Given the description of an element on the screen output the (x, y) to click on. 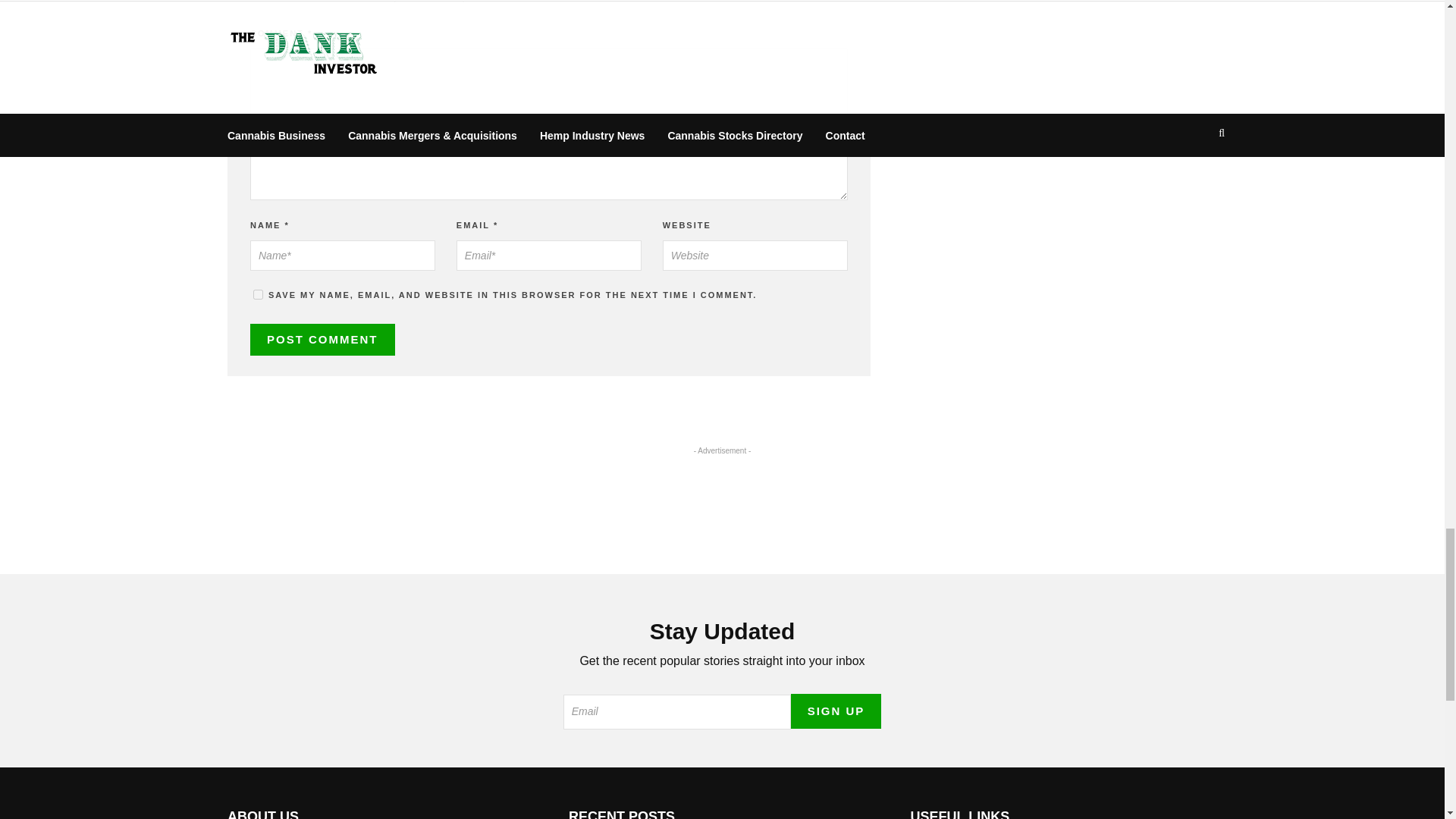
yes (258, 294)
Post Comment (322, 339)
Post Comment (322, 339)
Sign up (836, 710)
